Given the description of an element on the screen output the (x, y) to click on. 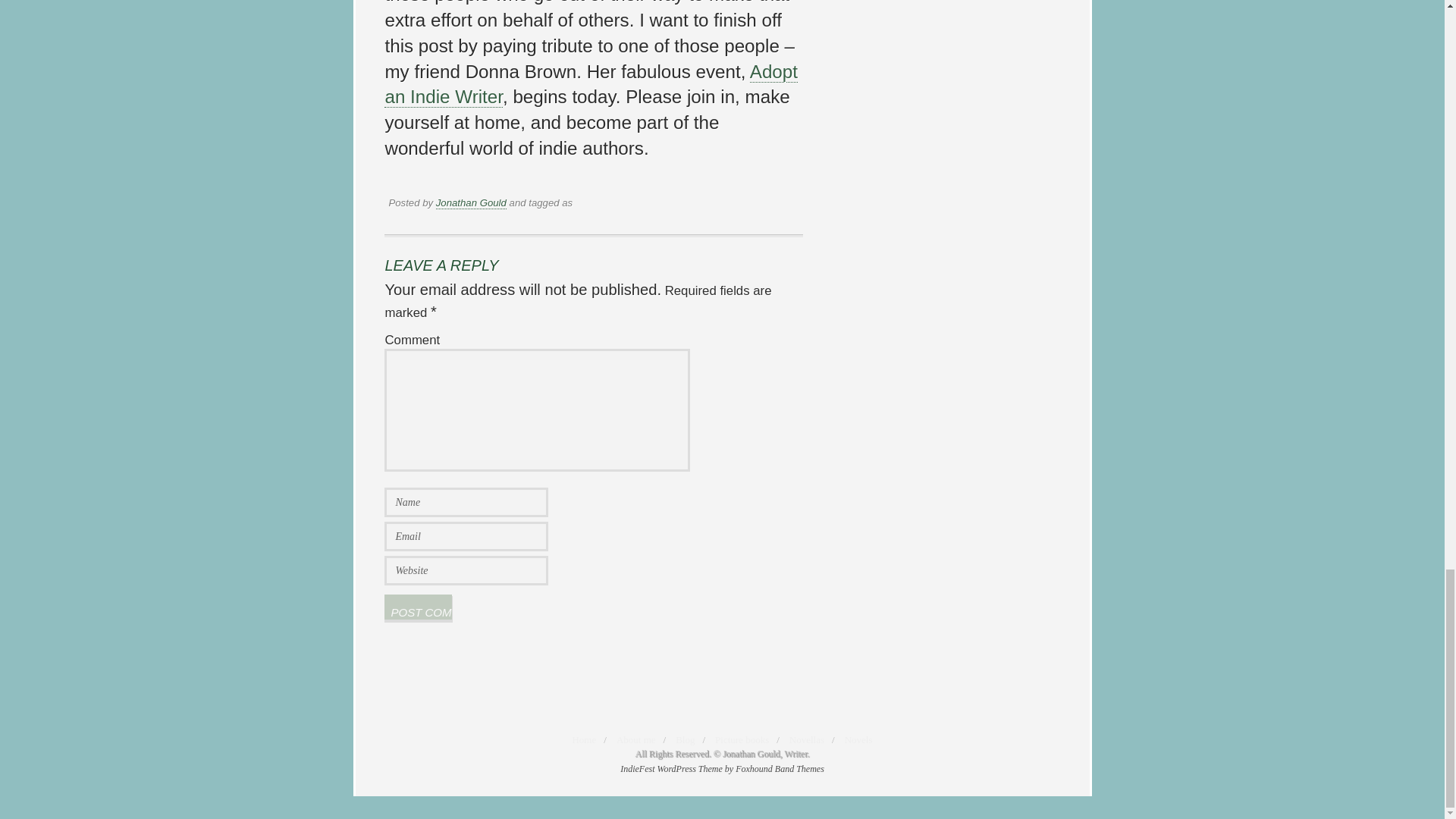
Posts by Jonathan Gould (470, 203)
Jonathan Gould (470, 203)
Email (466, 536)
Website (466, 570)
Post Comment (417, 606)
Name (466, 501)
Post Comment (417, 606)
Adopt an Indie Writer (590, 84)
